Given the description of an element on the screen output the (x, y) to click on. 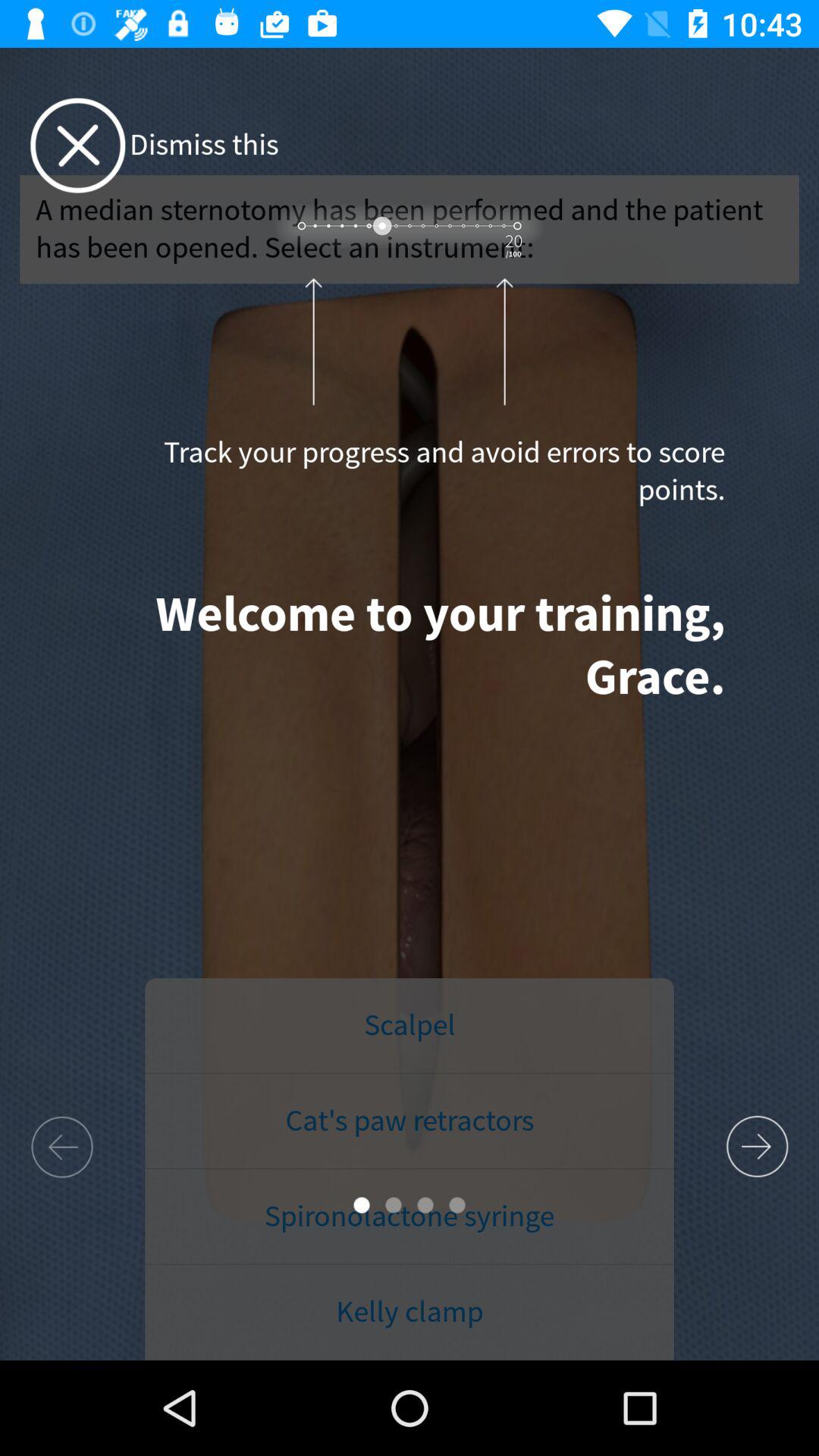
press item below scalpel item (409, 1121)
